Given the description of an element on the screen output the (x, y) to click on. 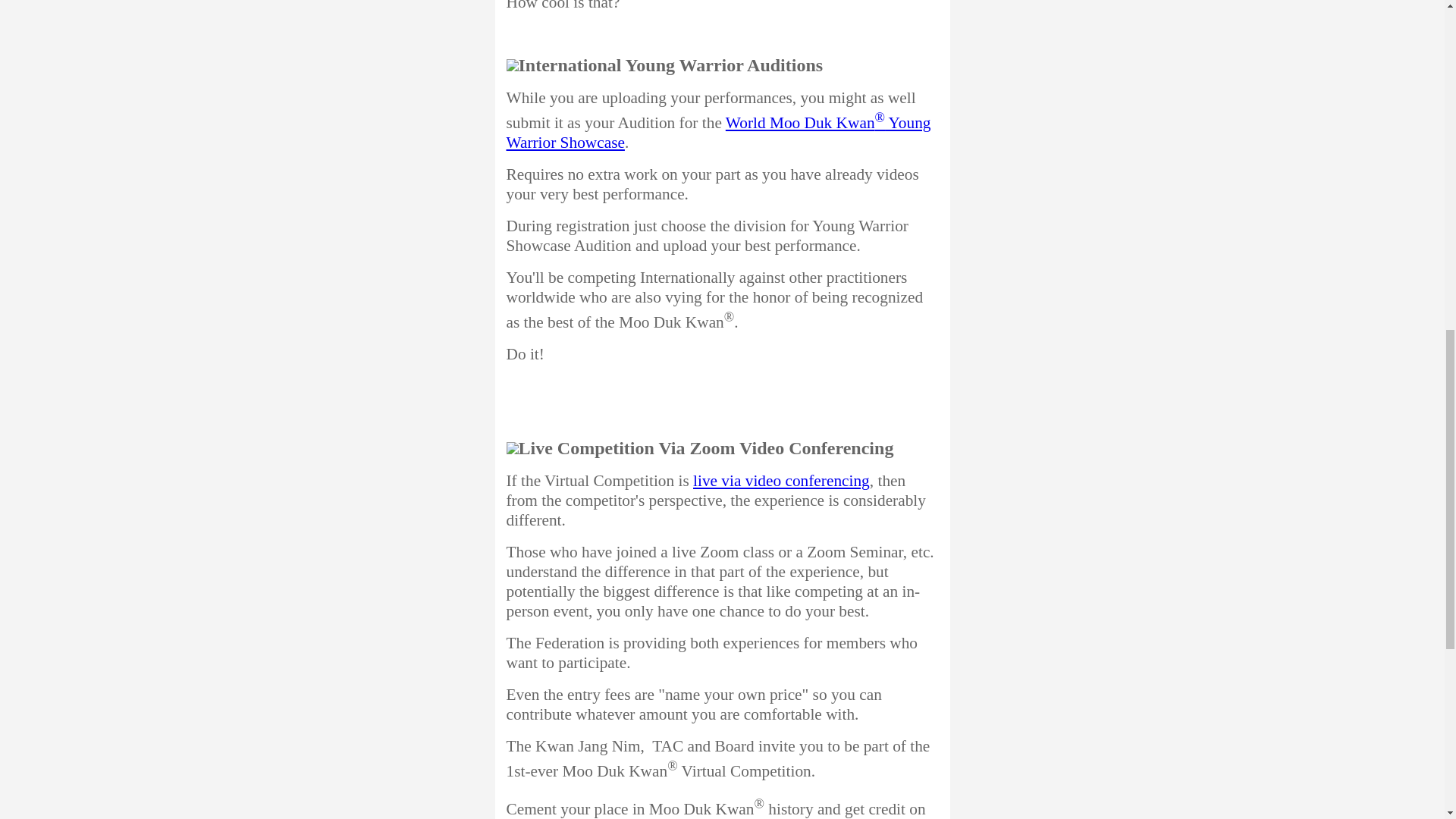
live via video conferencing (781, 480)
